Given the description of an element on the screen output the (x, y) to click on. 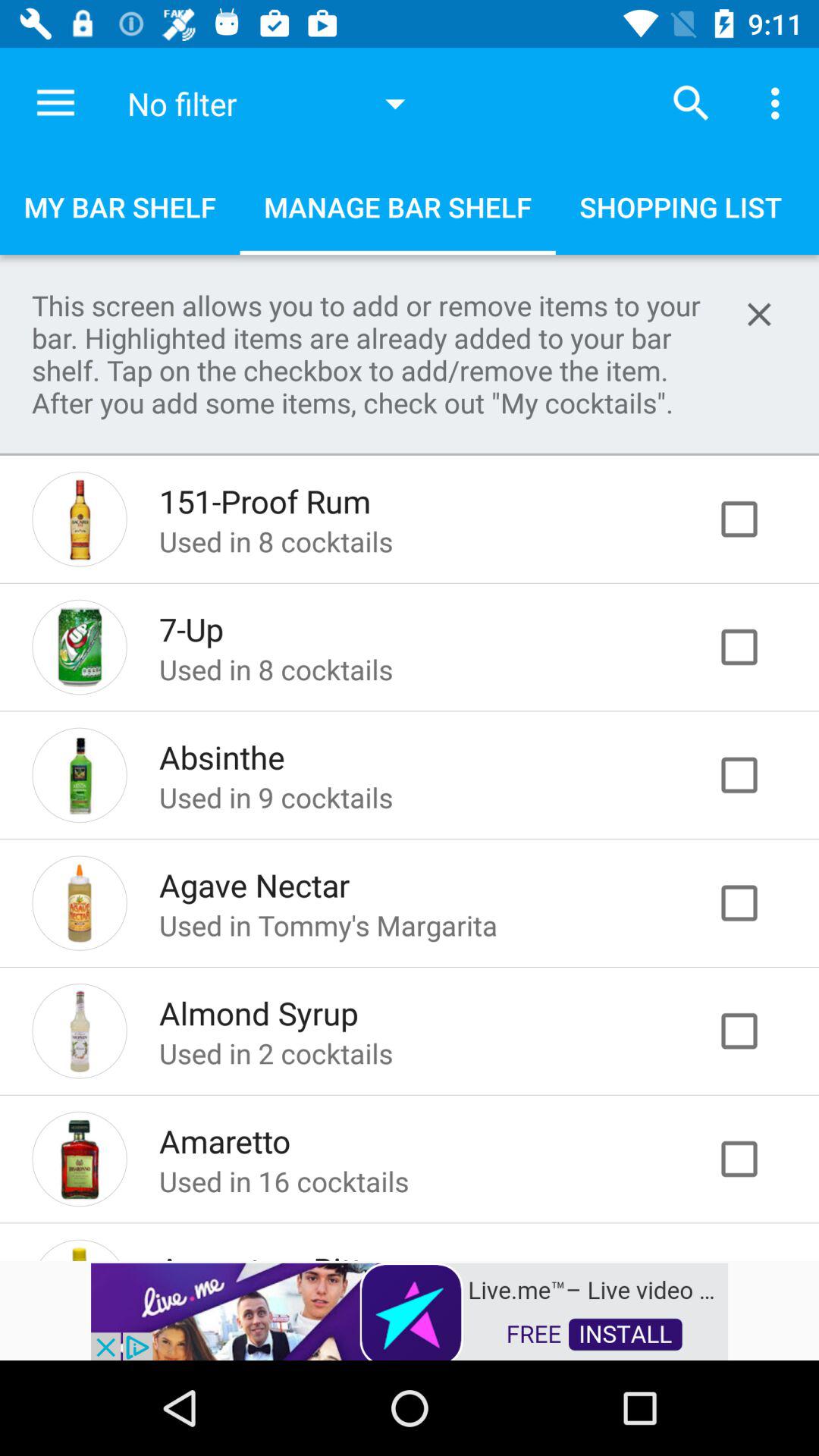
add an item (755, 518)
